Given the description of an element on the screen output the (x, y) to click on. 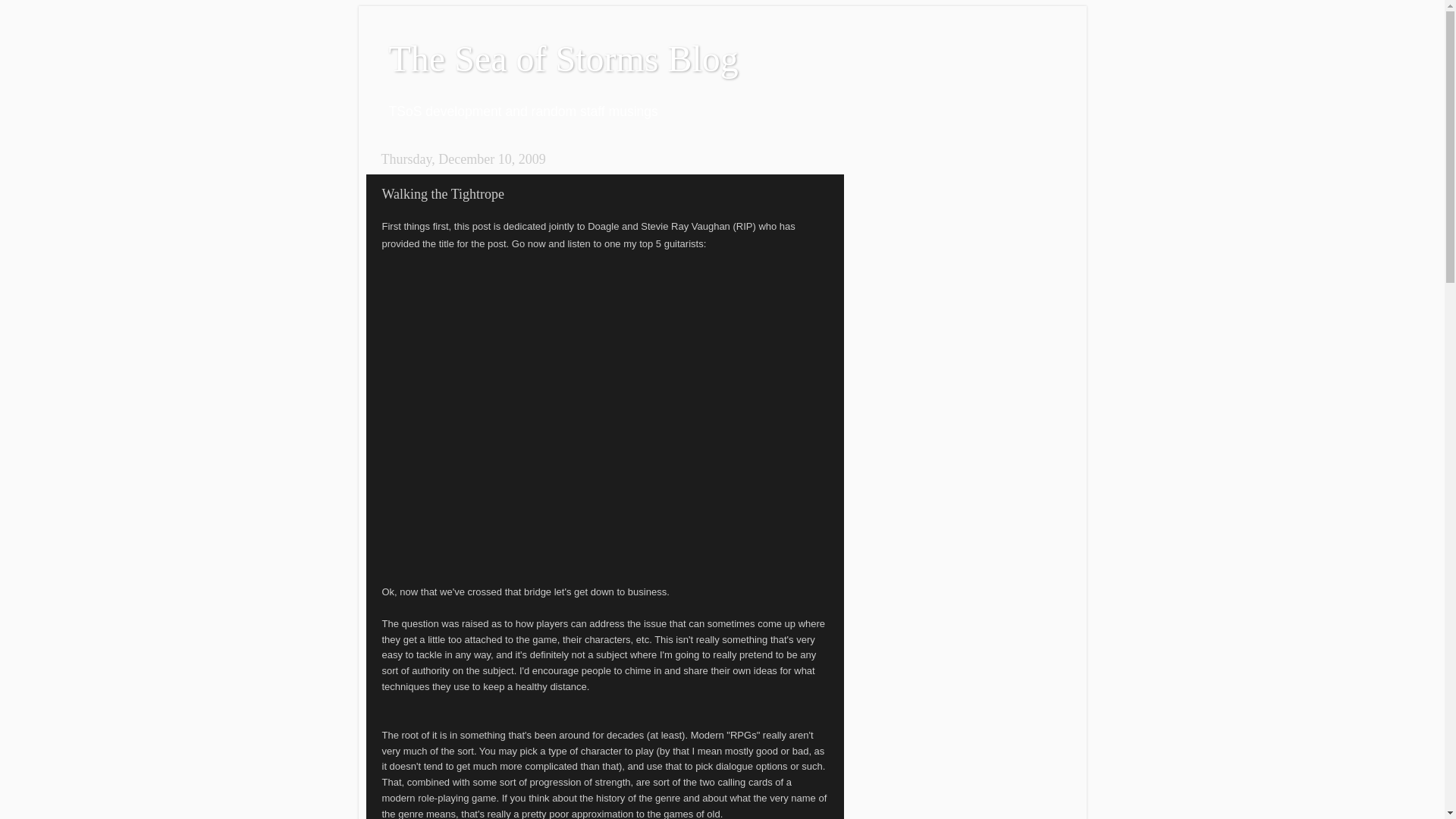
The Sea of Storms Blog (563, 58)
